Given the description of an element on the screen output the (x, y) to click on. 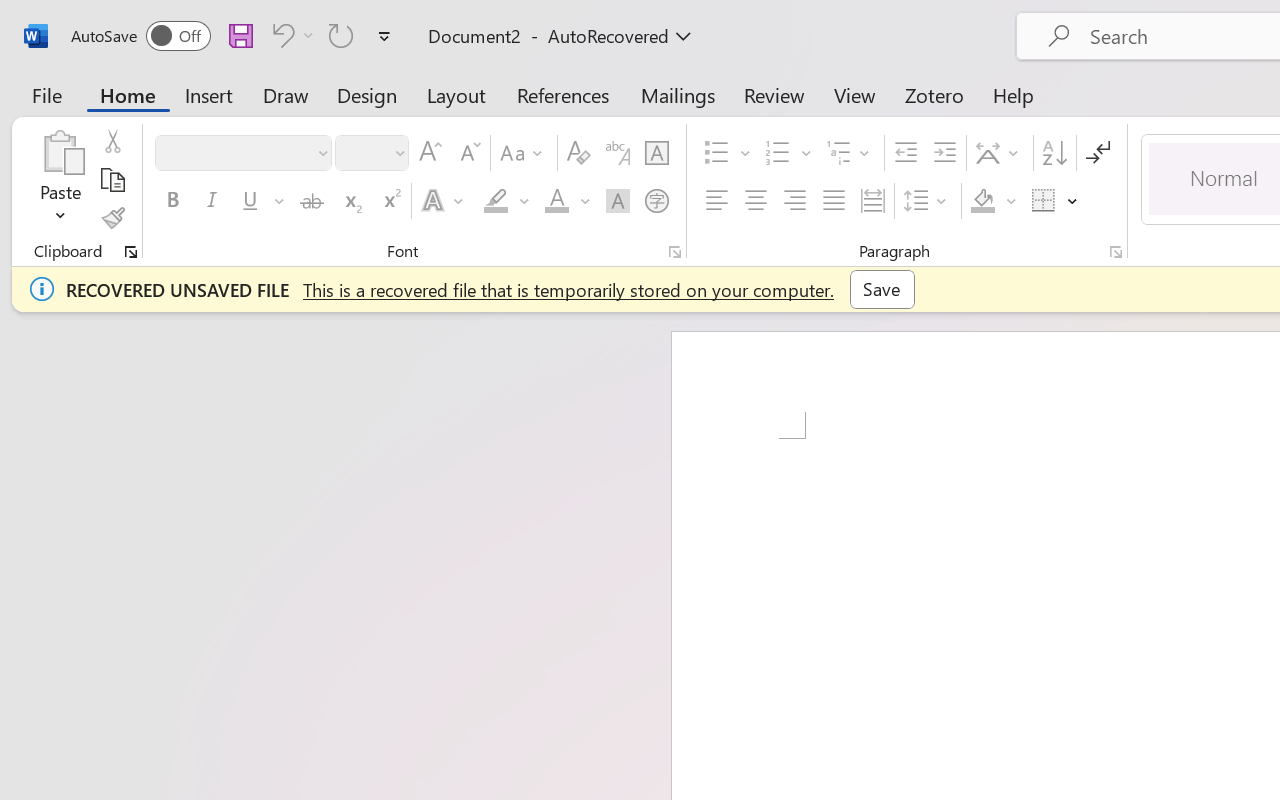
Can't Repeat (341, 35)
Multilevel List (850, 153)
Font Color RGB(255, 0, 0) (556, 201)
Character Shading (618, 201)
Text Highlight Color (506, 201)
Shrink Font (468, 153)
Change Case (524, 153)
Align Right (794, 201)
Character Border (656, 153)
